Given the description of an element on the screen output the (x, y) to click on. 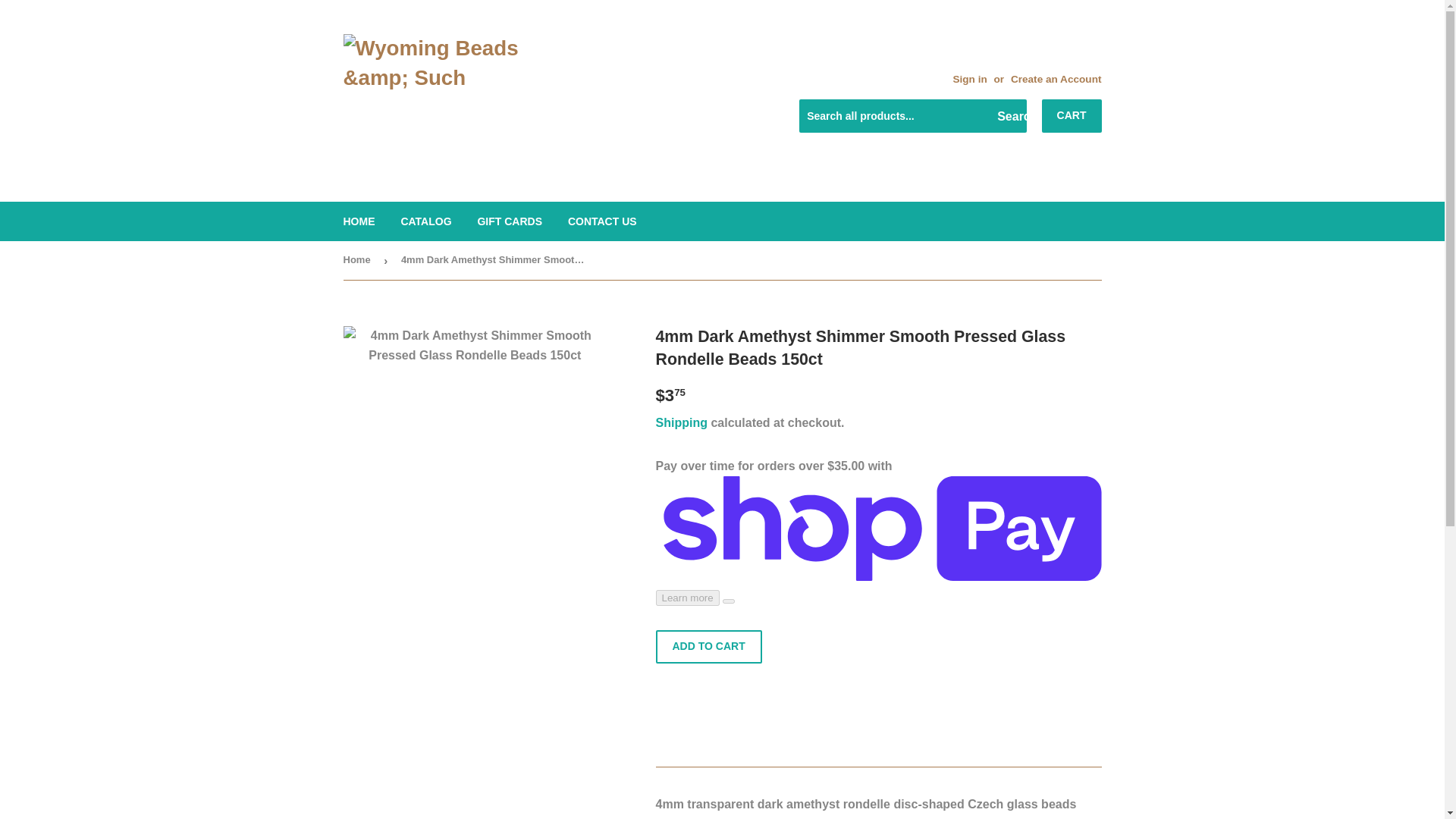
Search (1009, 116)
CATALOG (425, 220)
ADD TO CART (708, 646)
Shipping (680, 422)
Sign in (969, 79)
GIFT CARDS (509, 220)
Create an Account (1056, 79)
HOME (359, 220)
CONTACT US (601, 220)
CART (1072, 115)
